Given the description of an element on the screen output the (x, y) to click on. 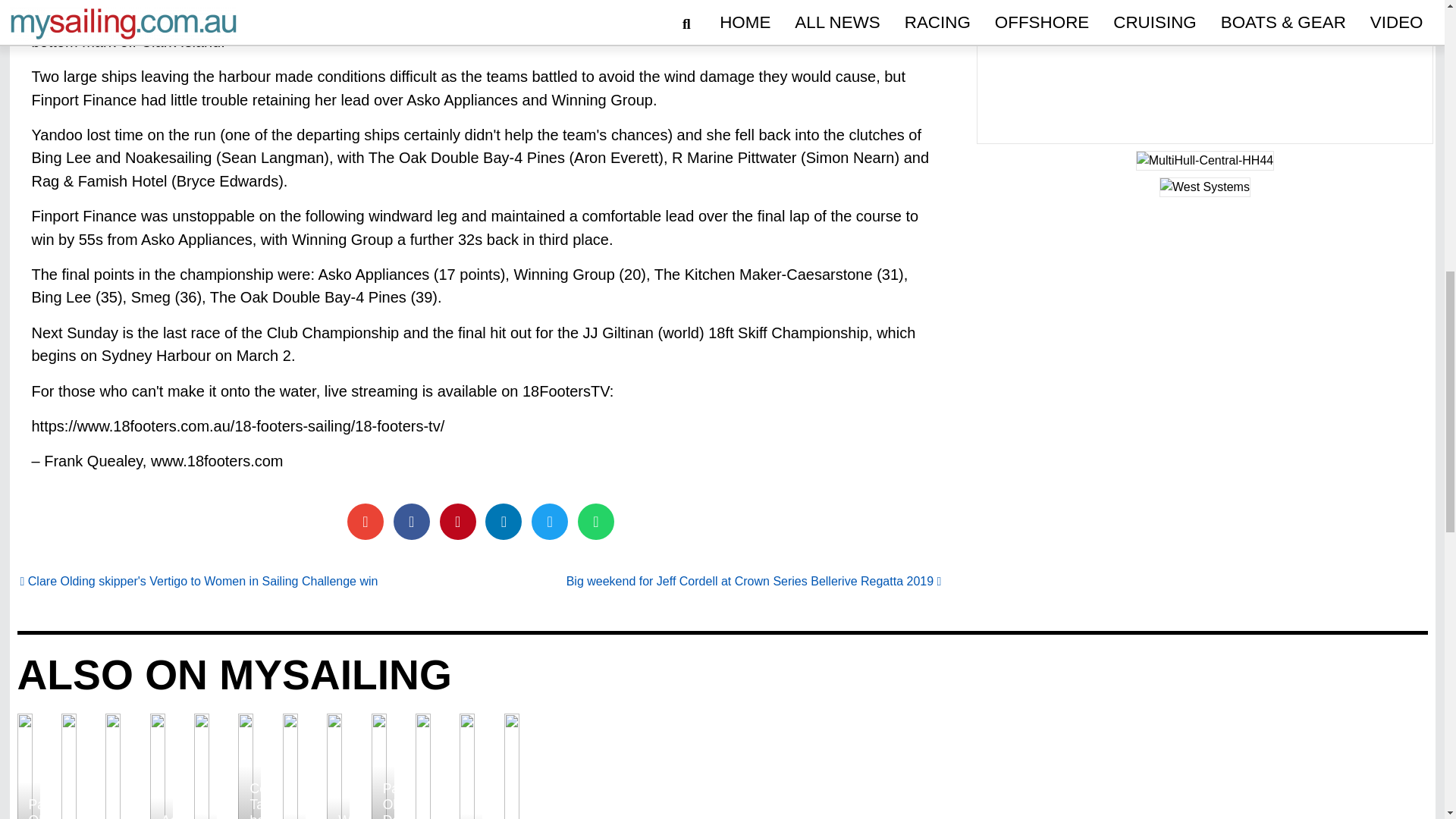
Share by Email (365, 521)
